Given the description of an element on the screen output the (x, y) to click on. 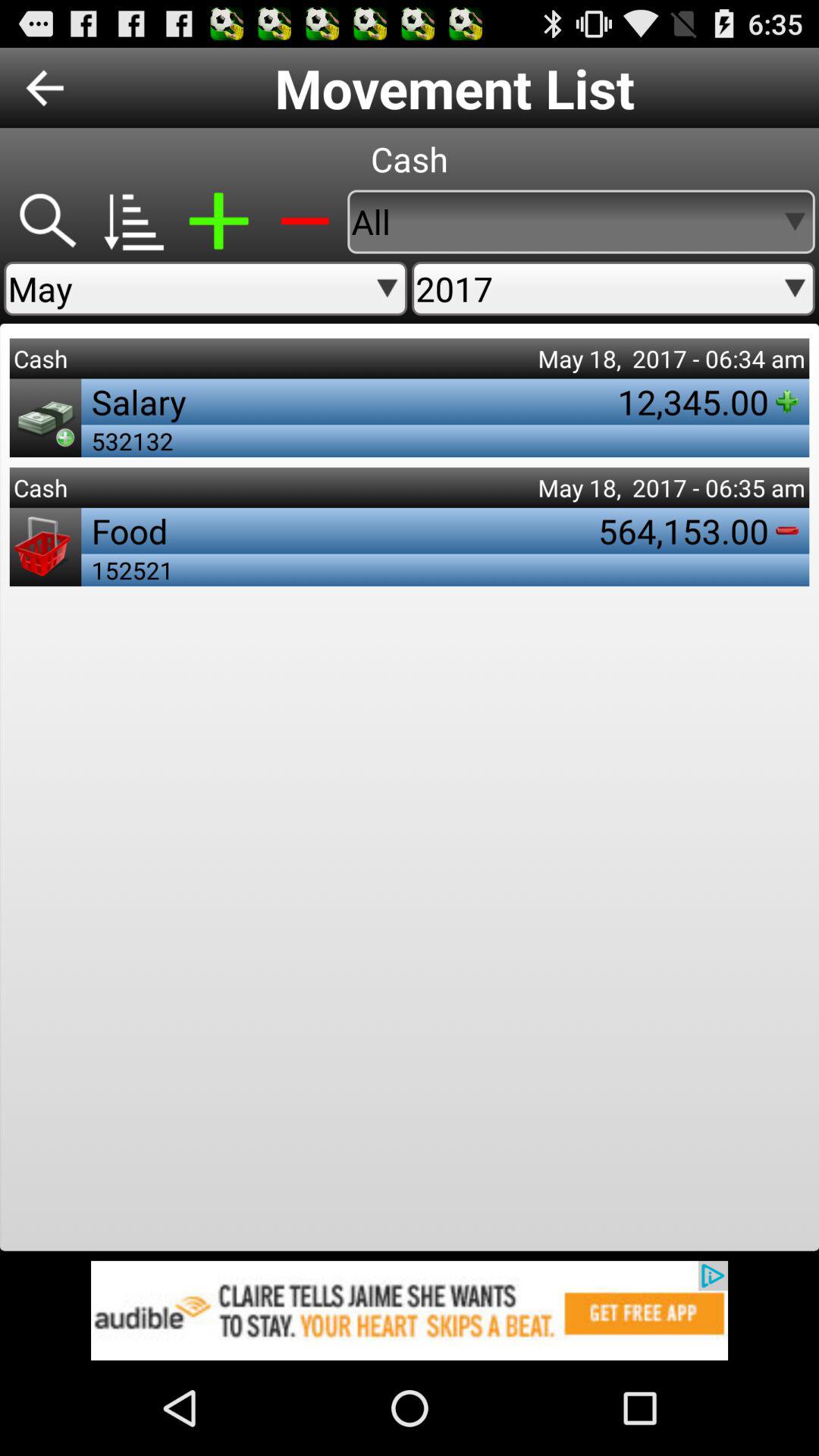
an green plus icon that pulls another menu (218, 221)
